Given the description of an element on the screen output the (x, y) to click on. 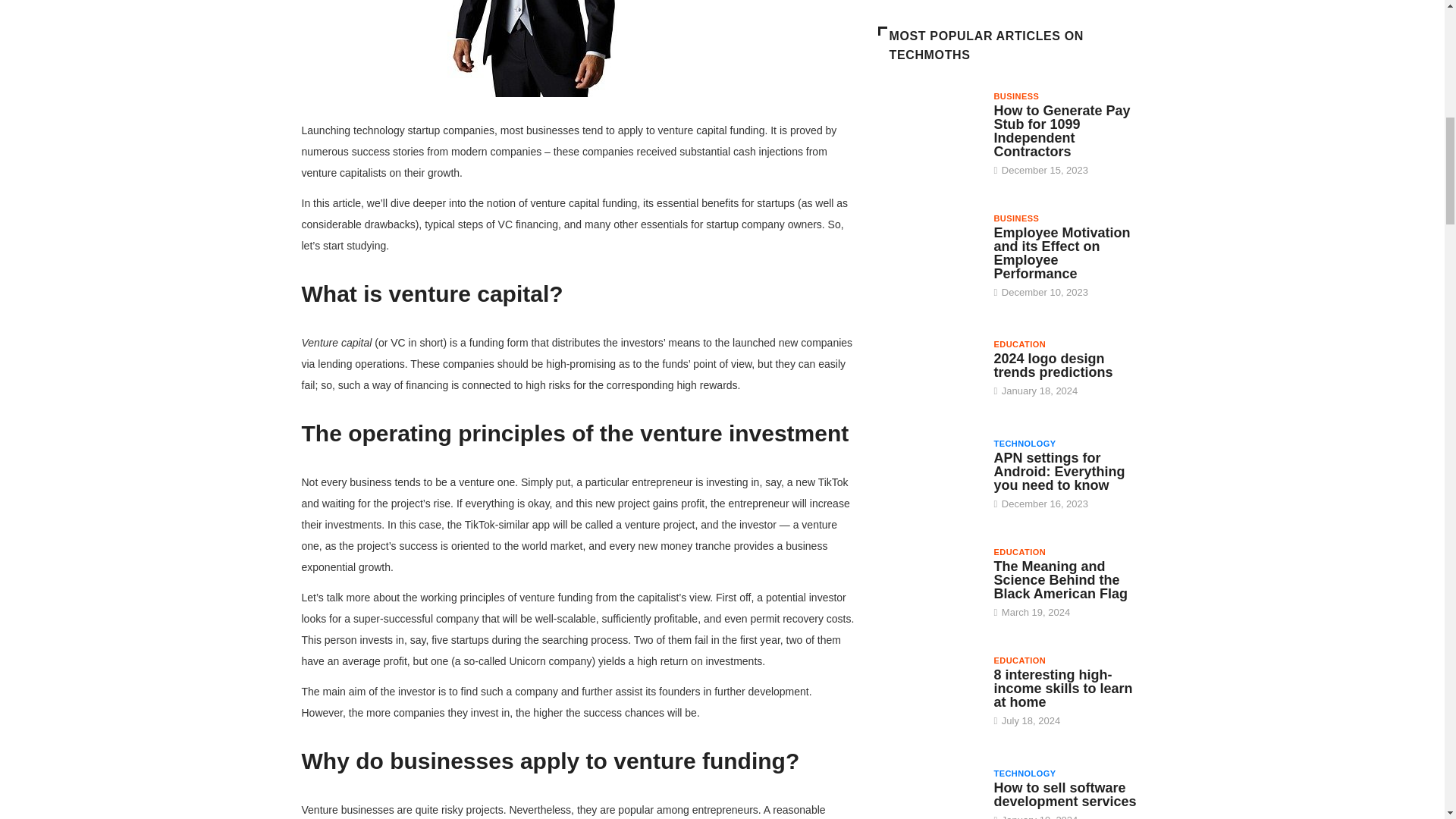
The Meaning and Science Behind the Black American Flag (1059, 579)
How to Generate Pay Stub for 1099 Independent Contractors (1060, 130)
How to Generate Pay Stub for 1099 Independent Contractors (927, 126)
APN settings for Android: Everything you need to know (927, 474)
The Meaning and Science Behind the Black American Flag (927, 582)
2024 logo design trends predictions (1052, 365)
2024 logo design trends predictions (927, 371)
APN settings for Android: Everything you need to know (1058, 471)
Employee Motivation and its Effect on Employee Performance (927, 249)
Employee Motivation and its Effect on Employee Performance (1060, 253)
